Given the description of an element on the screen output the (x, y) to click on. 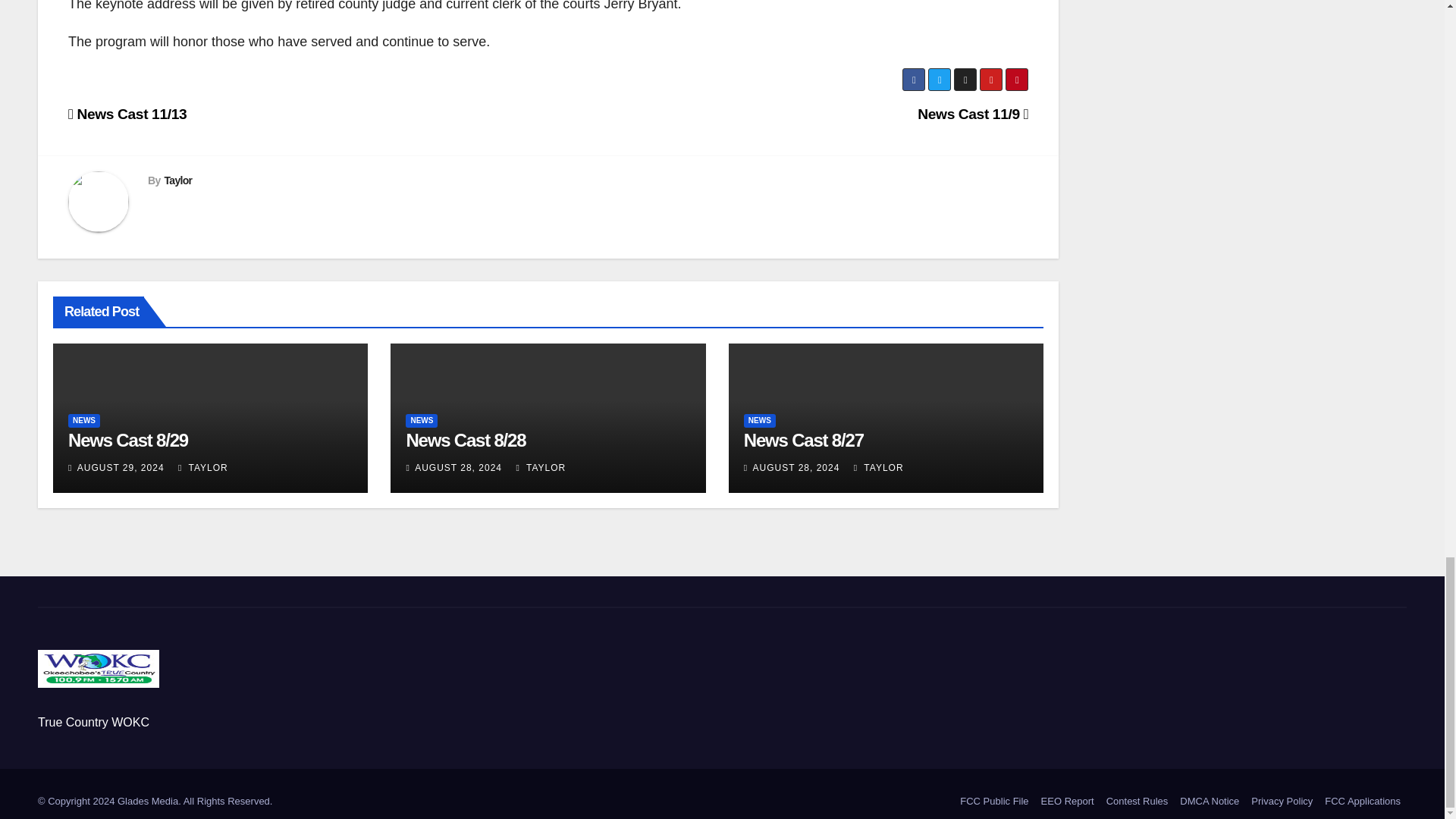
TAYLOR (878, 467)
AUGUST 28, 2024 (796, 467)
AUGUST 29, 2024 (120, 467)
AUGUST 28, 2024 (458, 467)
EEO Report (1067, 800)
TAYLOR (202, 467)
FCC Public File (993, 800)
NEWS (84, 420)
NEWS (760, 420)
Contest Rules (1137, 800)
